Given the description of an element on the screen output the (x, y) to click on. 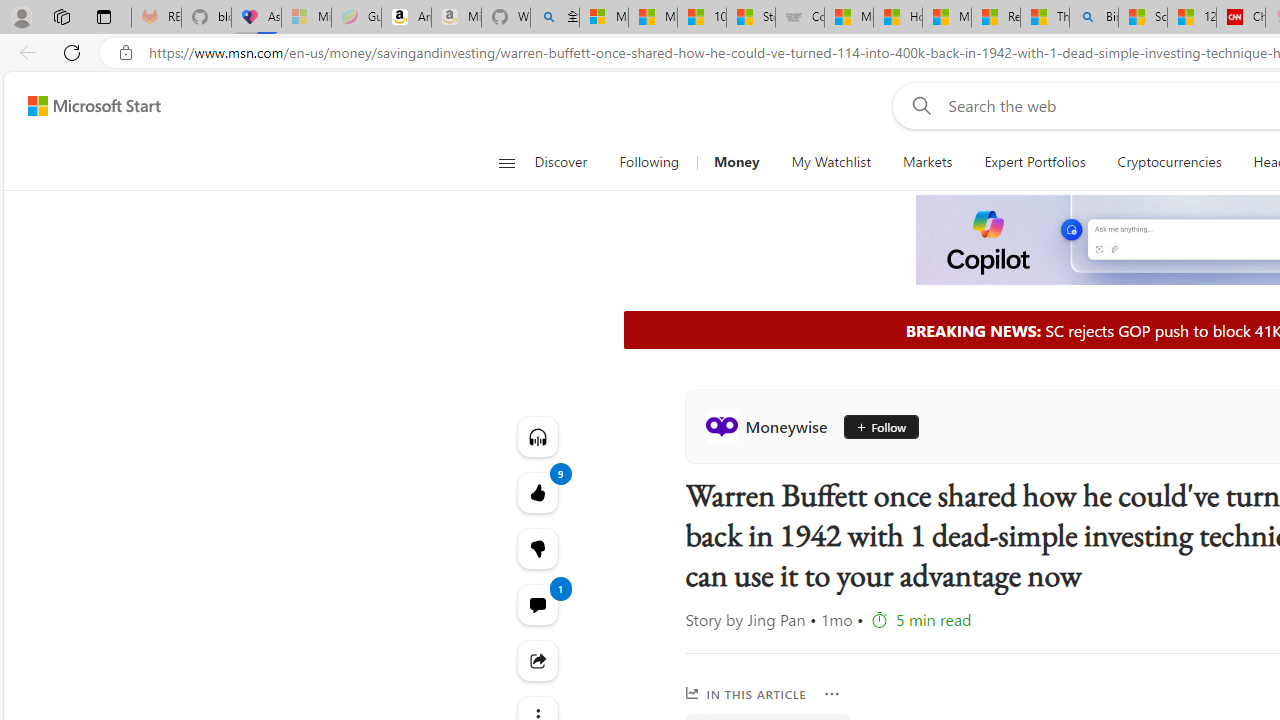
Class: button-glyph (505, 162)
Bing (1093, 17)
More Options (832, 694)
How I Got Rid of Microsoft Edge's Unnecessary Features (897, 17)
12 Popular Science Lies that Must be Corrected (1191, 17)
Class: at-item (537, 660)
Web search (917, 105)
Listen to this article (537, 436)
Expert Portfolios (1034, 162)
